Given the description of an element on the screen output the (x, y) to click on. 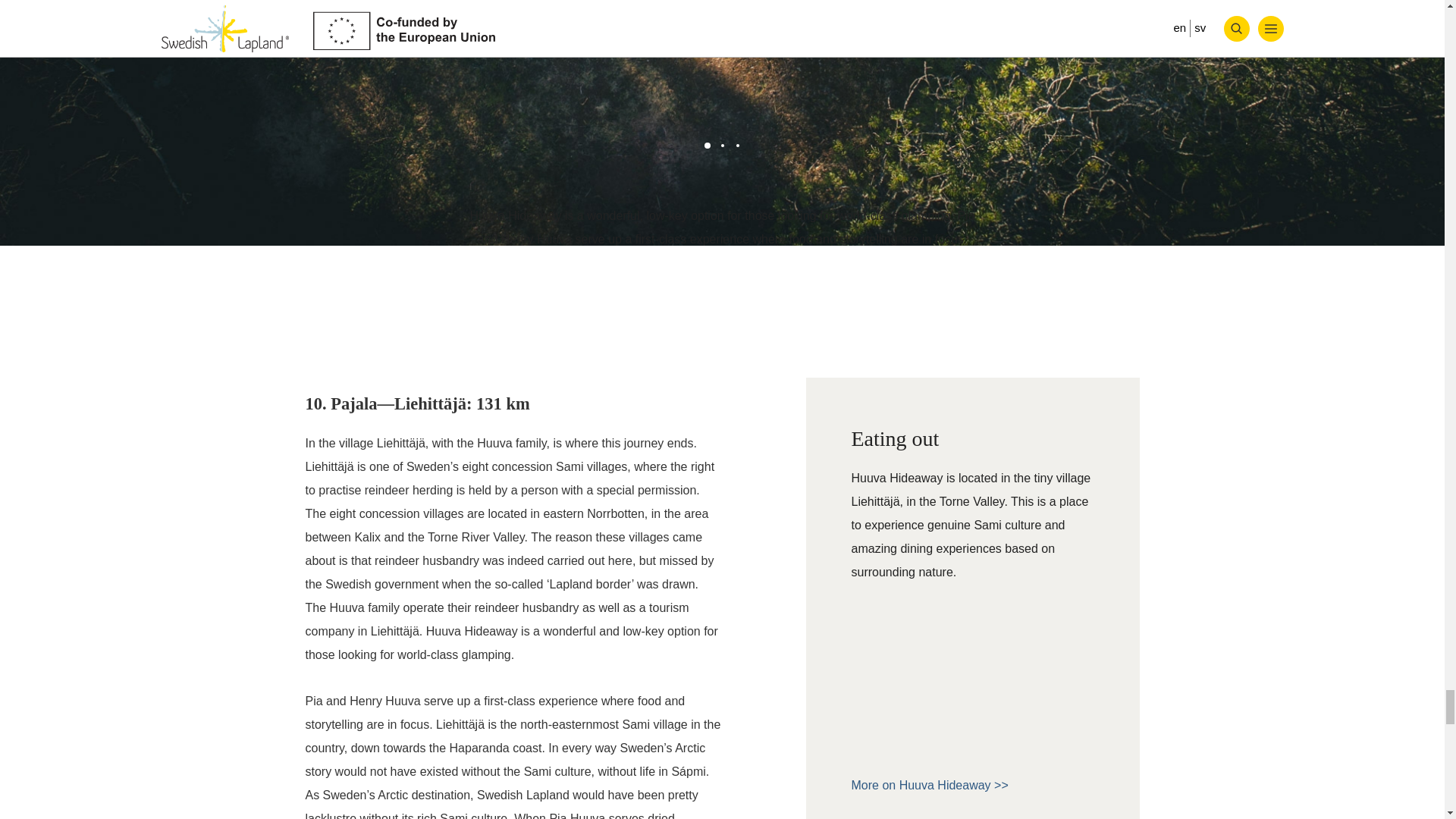
YouTube video player (971, 674)
